Given the description of an element on the screen output the (x, y) to click on. 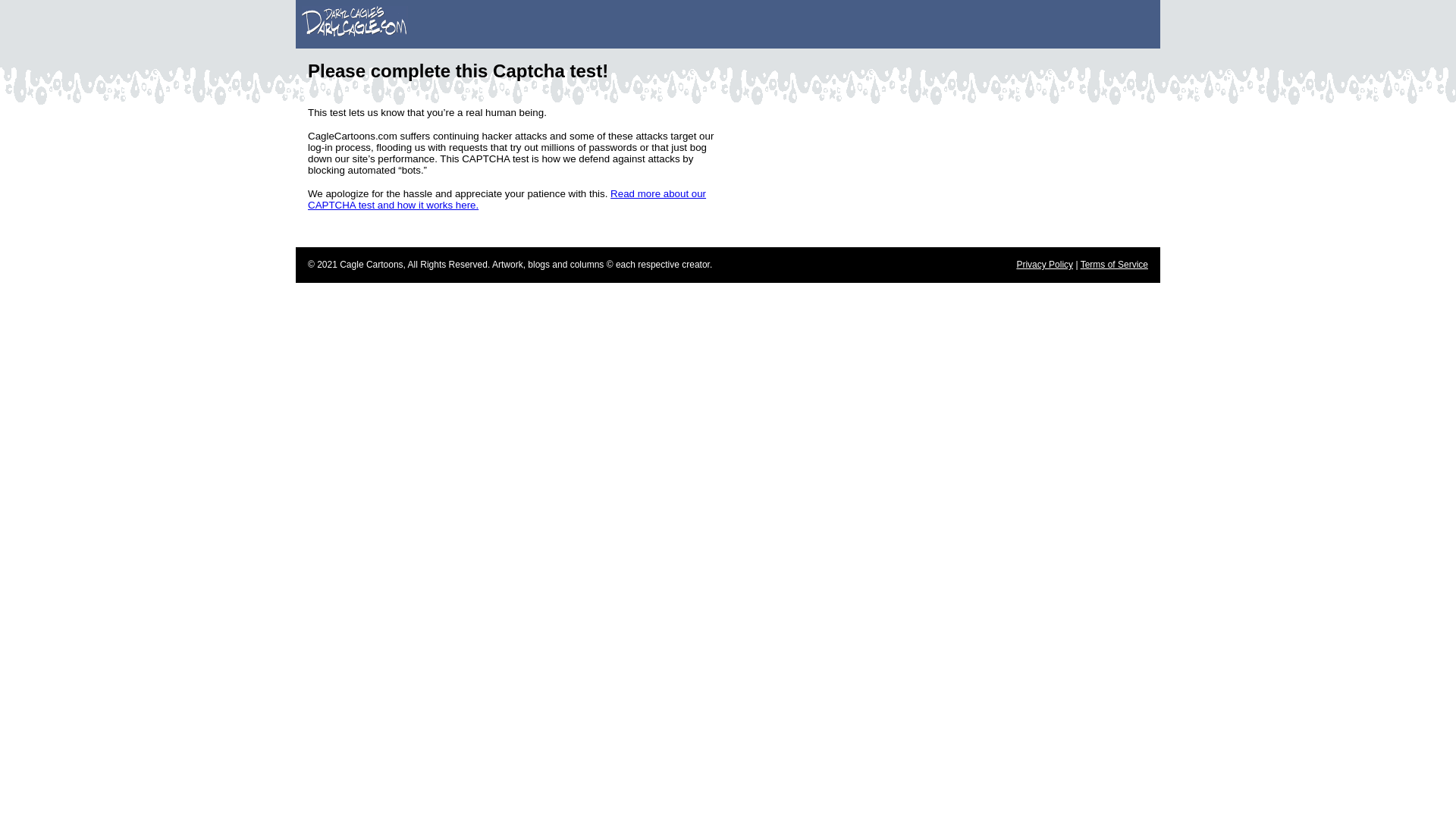
Terms of Service (1114, 264)
Read more about our CAPTCHA test and how it works here. (506, 199)
Privacy Policy (1044, 264)
